Given the description of an element on the screen output the (x, y) to click on. 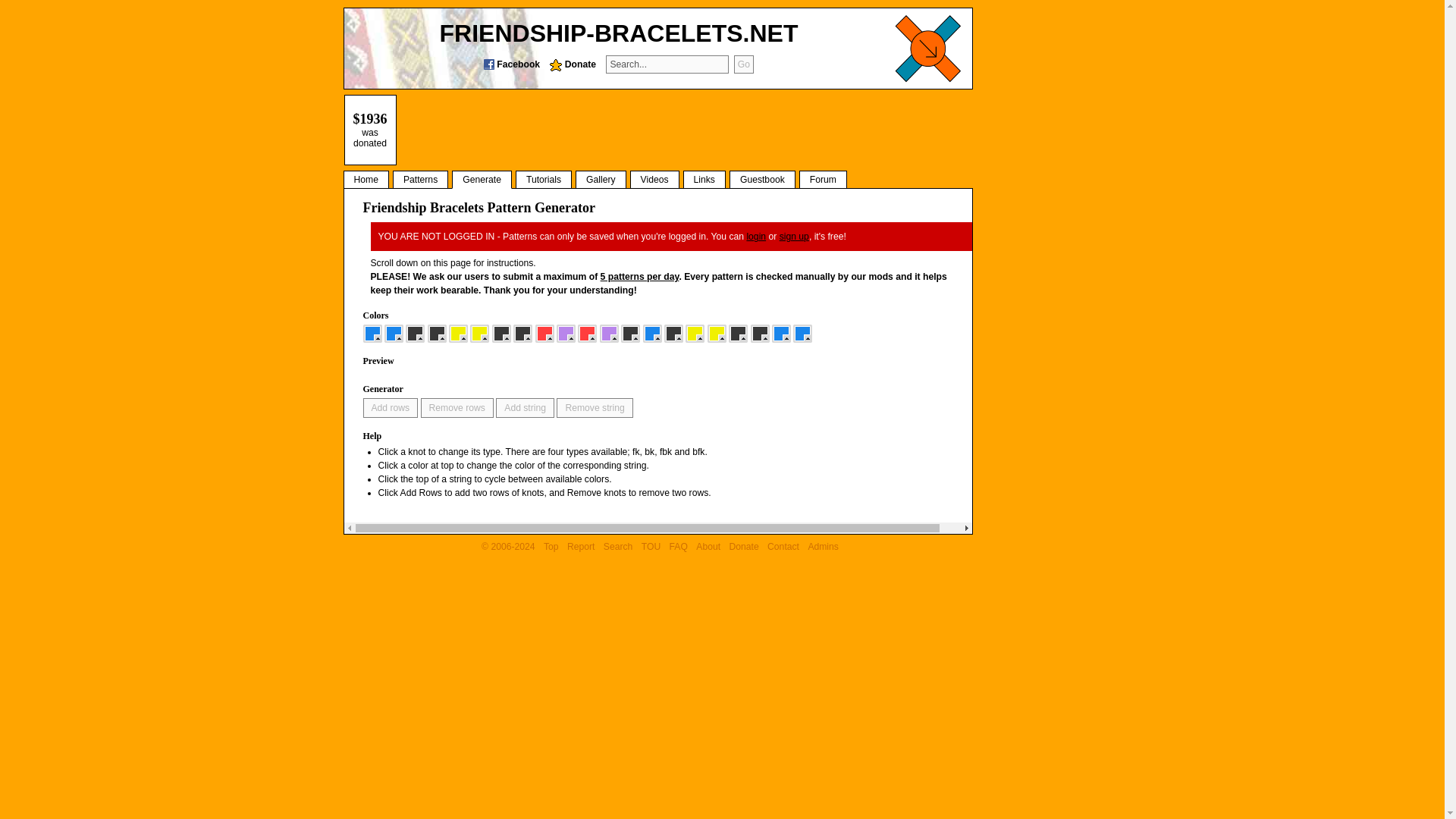
Go (743, 64)
FRIENDSHIP-BRACELETS.NET (618, 32)
Patterns (420, 179)
Forum (823, 179)
Guestbook (761, 179)
Donate (569, 63)
Links (703, 179)
Facebook (509, 63)
Remove string (593, 407)
Generate (481, 179)
Search... (667, 64)
Videos (654, 179)
Remove rows (456, 407)
Gallery (600, 179)
Home (365, 179)
